Given the description of an element on the screen output the (x, y) to click on. 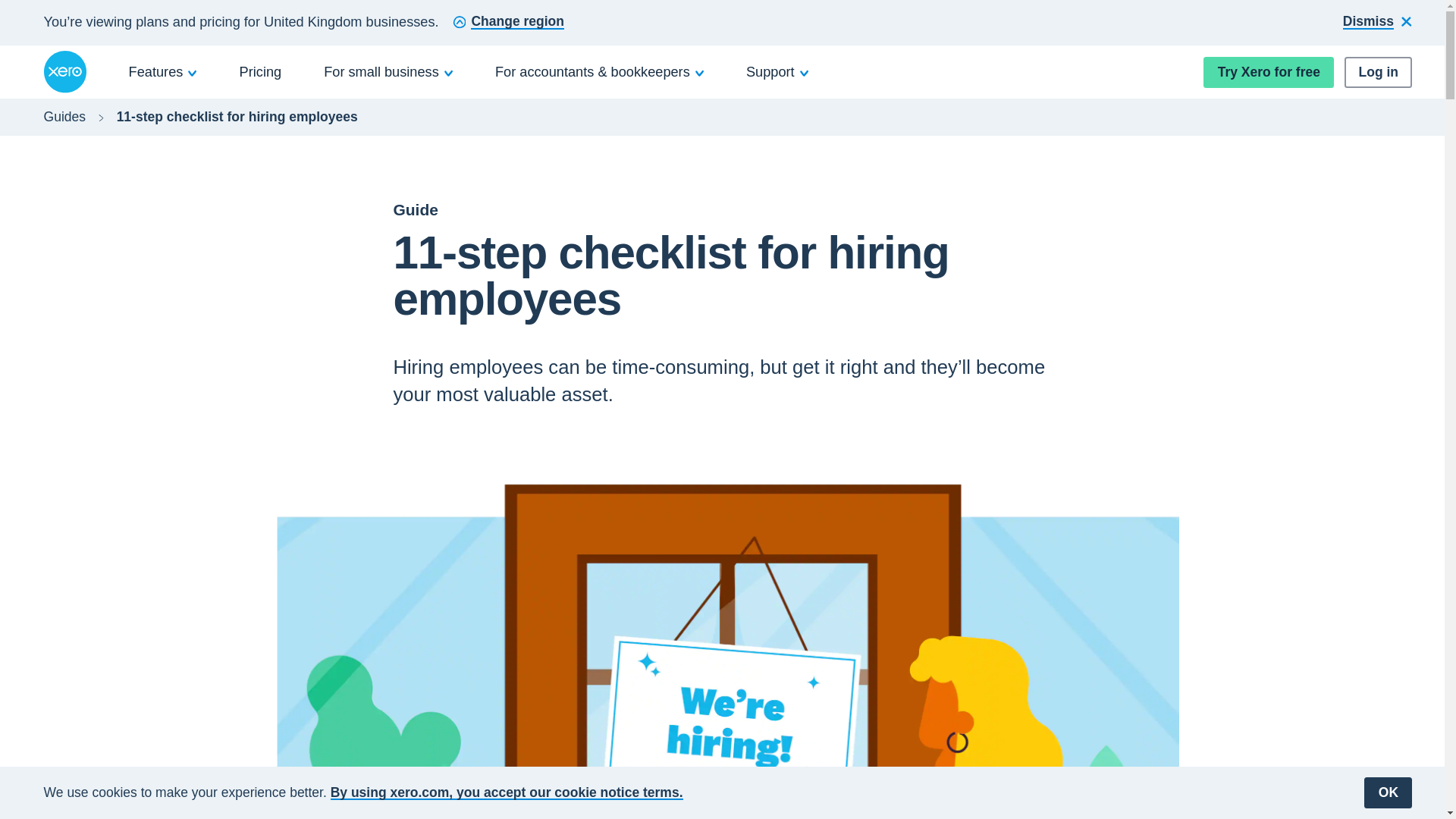
OK (1388, 792)
Pricing (260, 71)
Guides (64, 116)
Features (162, 71)
By using xero.com, you accept our cookie notice terms. (506, 792)
Log in (1377, 71)
Change region (508, 23)
For small business (388, 71)
Dismiss (1377, 23)
Support (777, 71)
